Given the description of an element on the screen output the (x, y) to click on. 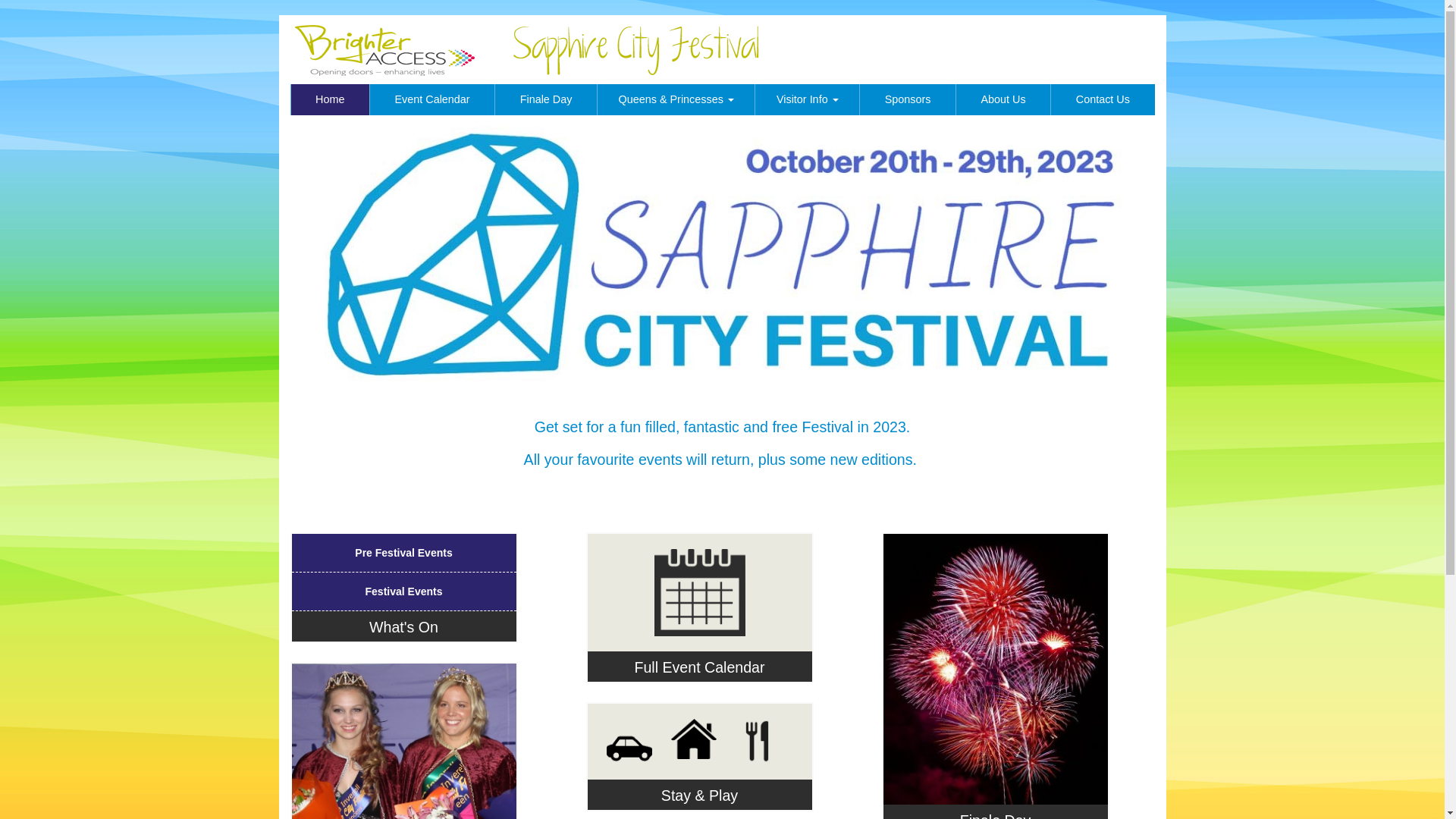
Finale Day Element type: text (545, 99)
Queens & Princesses  Element type: text (675, 99)
About Us Element type: text (1002, 99)
Stay & Play Element type: text (698, 794)
Pre Festival Events Element type: text (403, 552)
Event Calendar Element type: text (431, 99)
Home Element type: text (328, 99)
Sponsors Element type: text (907, 99)
Festival Events Element type: text (403, 591)
Contact Us Element type: text (1102, 99)
Visitor Info  Element type: text (806, 99)
Full Event Calendar Element type: text (698, 633)
